Given the description of an element on the screen output the (x, y) to click on. 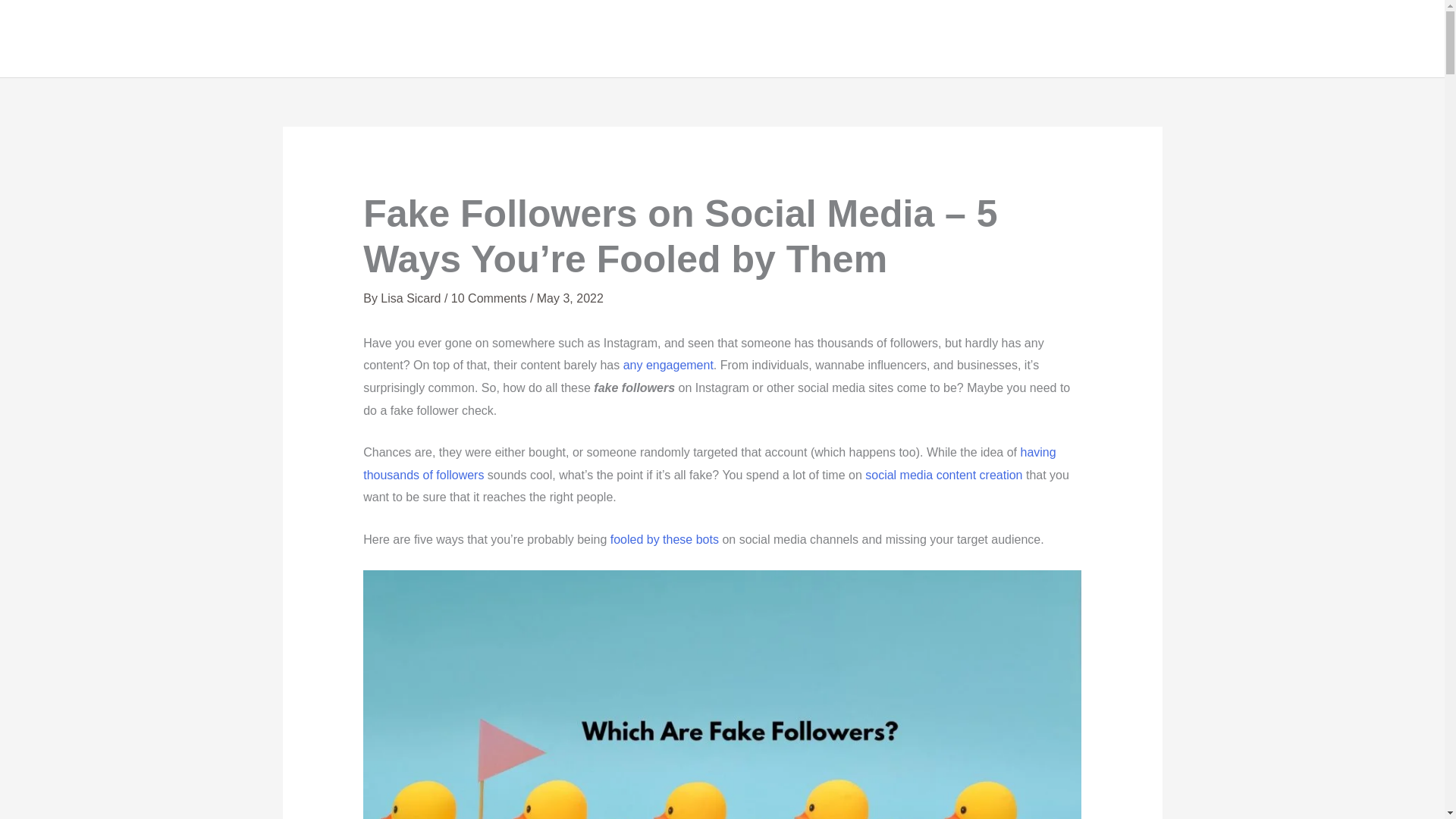
Home (975, 38)
any engagement (668, 364)
Social Media (1353, 38)
View all posts by Lisa Sicard (412, 297)
About (1044, 38)
SEO (1272, 38)
fooled by these bots (664, 539)
SM Services (1134, 38)
having thousands of followers (708, 463)
To Inspire You To Thrive Online (975, 38)
